Given the description of an element on the screen output the (x, y) to click on. 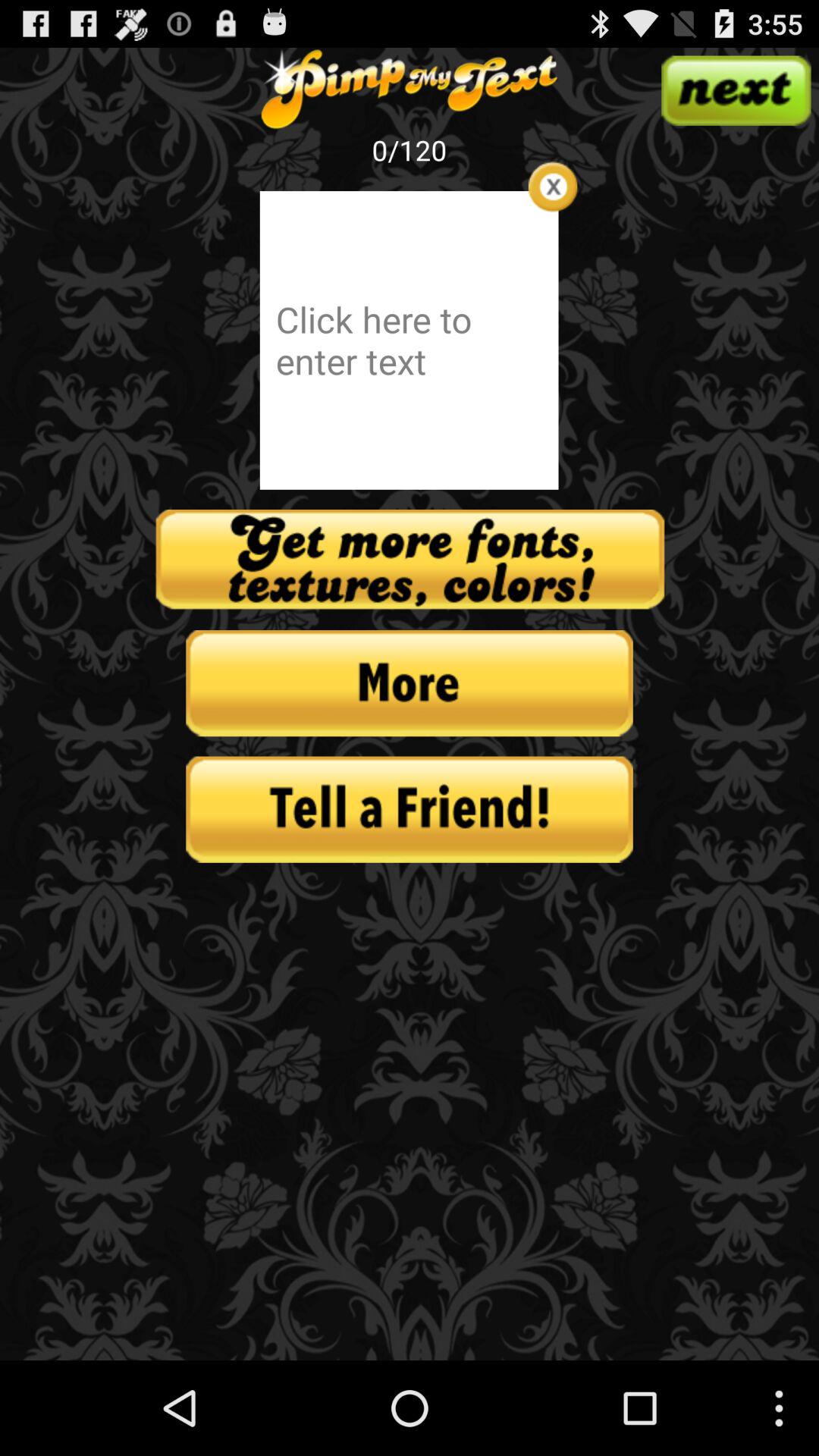
go to next option (736, 90)
